Given the description of an element on the screen output the (x, y) to click on. 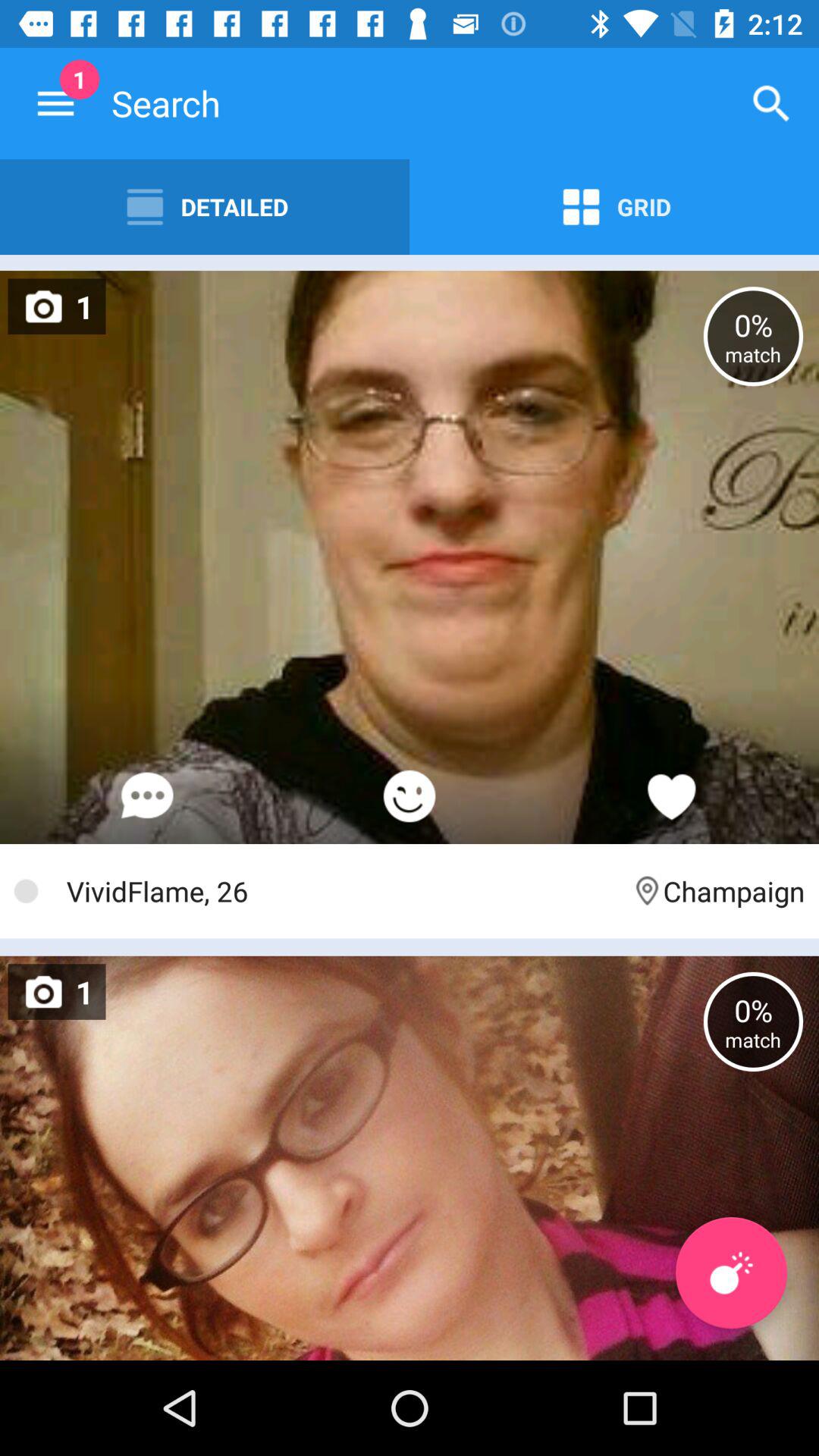
turn on vividflame, 26 (341, 891)
